Given the description of an element on the screen output the (x, y) to click on. 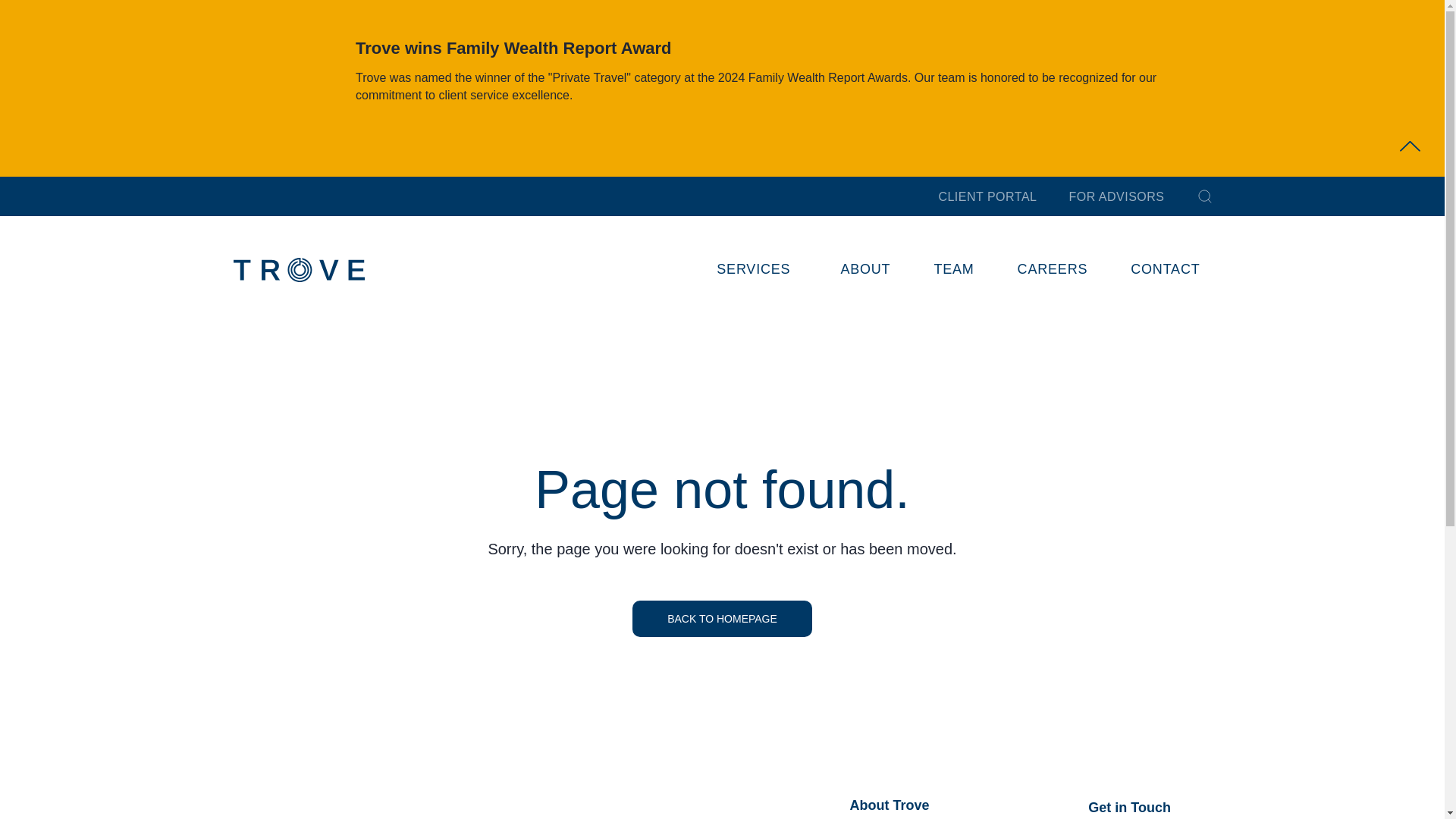
CONTACT (1165, 268)
CAREERS (1052, 268)
TEAM (953, 268)
About Trove (888, 805)
CLIENT PORTAL (986, 196)
ABOUT (864, 268)
FOR ADVISORS (1115, 196)
BACK TO HOMEPAGE (721, 618)
SERVICES (756, 268)
